Given the description of an element on the screen output the (x, y) to click on. 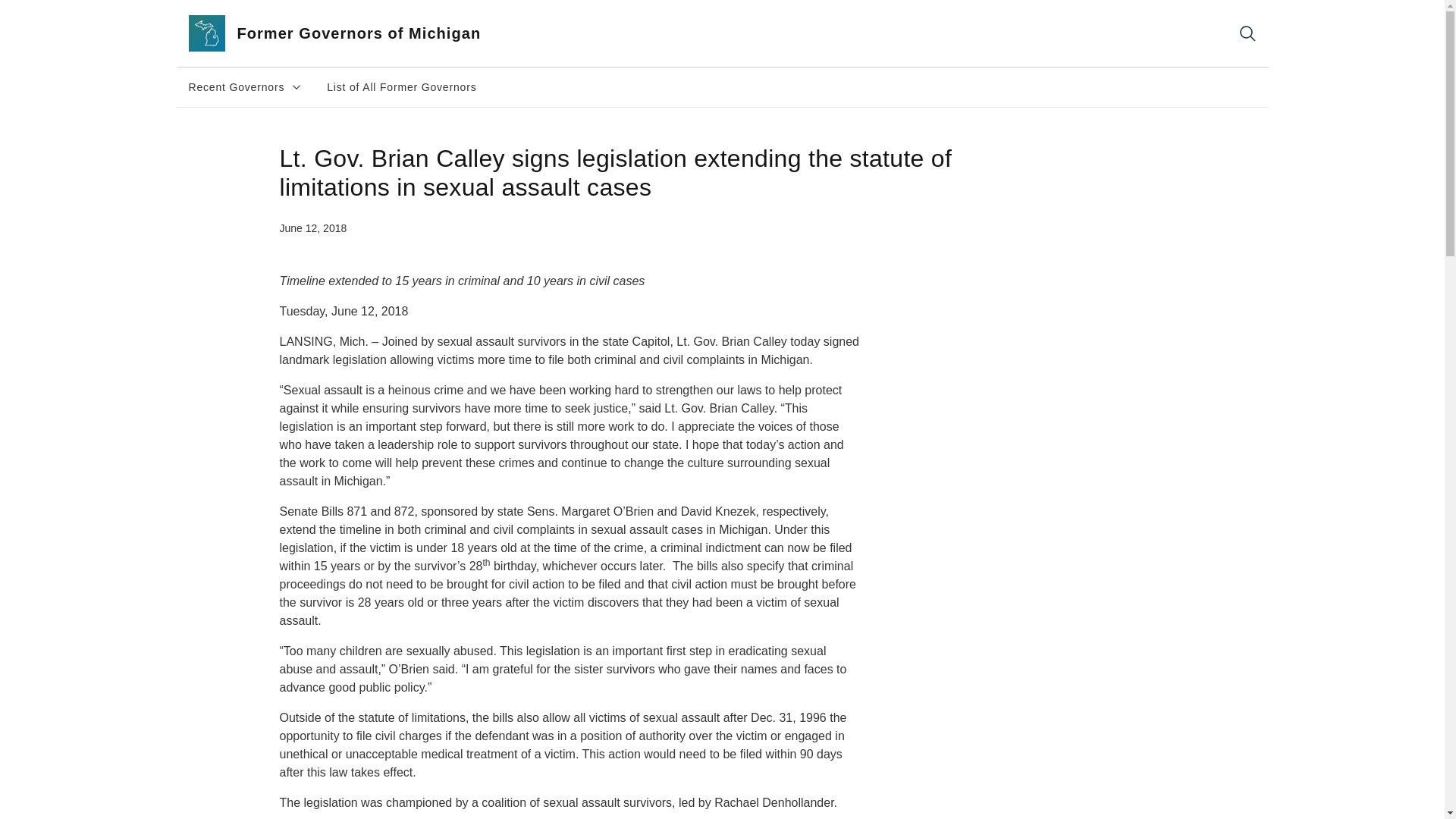
Former Governors of Michigan (352, 33)
List of All Former Governors (245, 87)
